Given the description of an element on the screen output the (x, y) to click on. 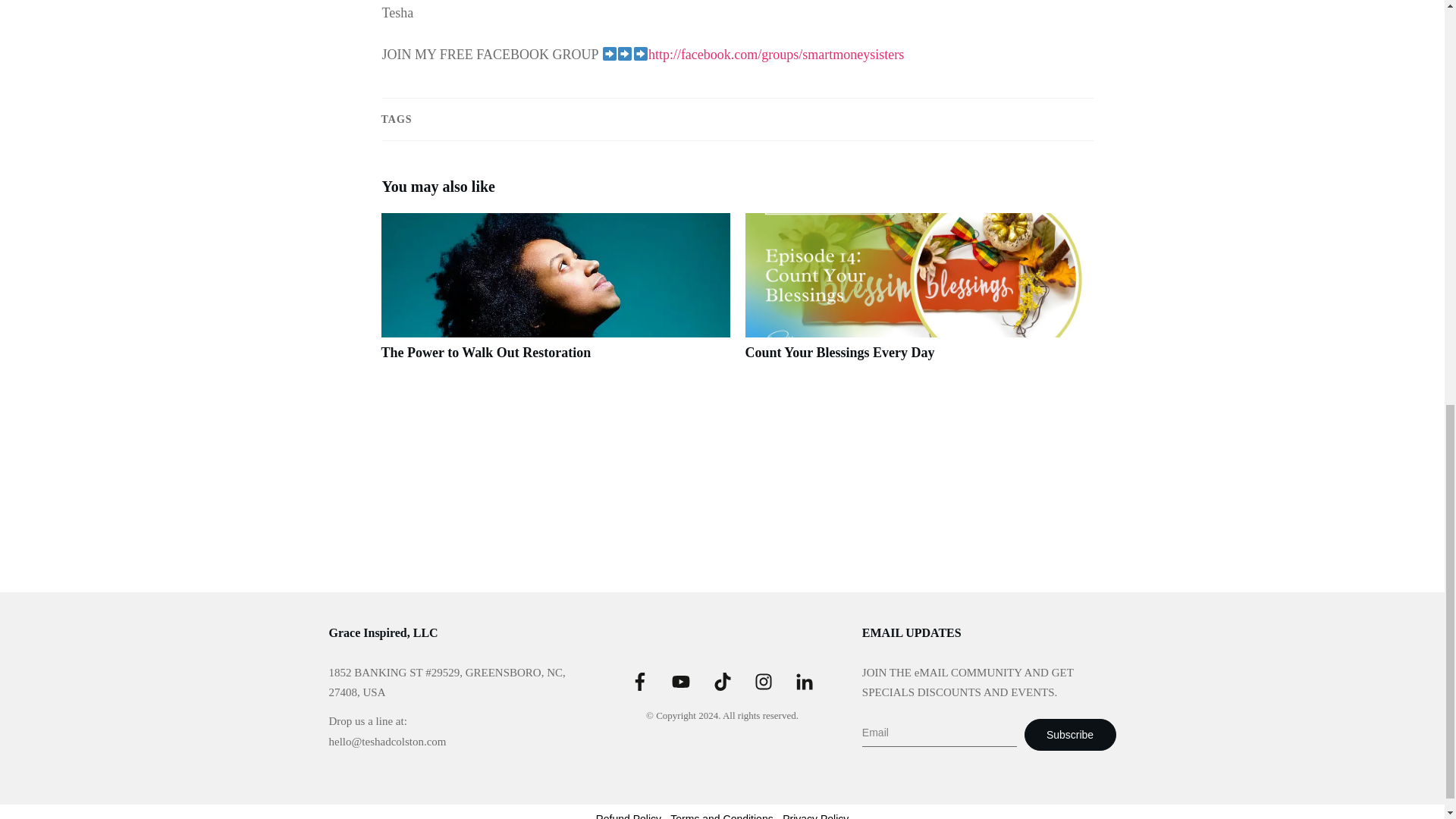
The Power to Walk Out Restoration (554, 294)
Count Your Blessings Every Day (839, 352)
Count Your Blessings Every Day (839, 352)
Subscribe (1070, 735)
The Power to Walk Out Restoration (485, 352)
Count Your Blessings Every Day (918, 294)
The Power to Walk Out Restoration (485, 352)
